Given the description of an element on the screen output the (x, y) to click on. 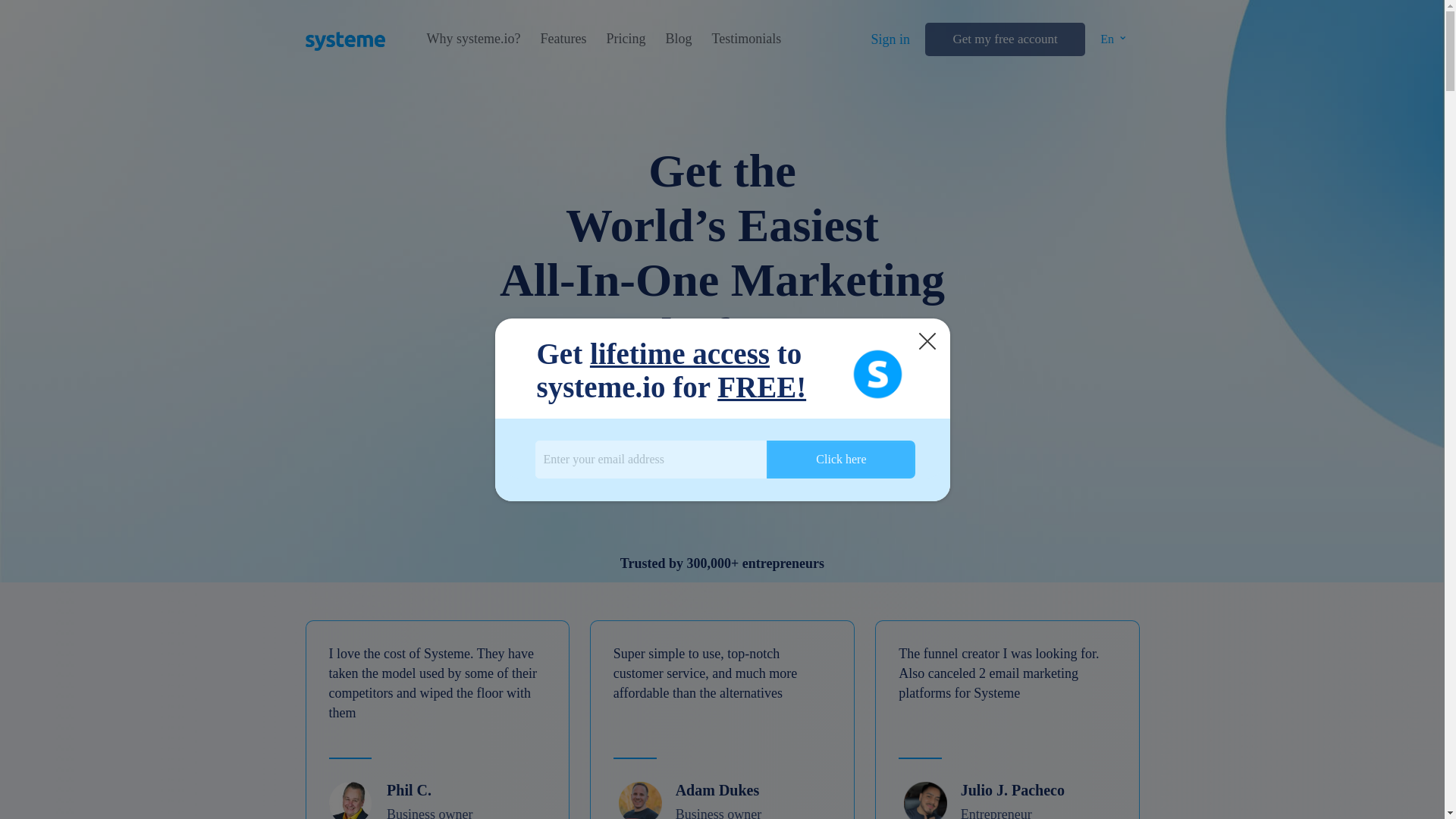
Testimonials (745, 38)
Sign in (890, 39)
Pricing (625, 38)
Why systeme.io? (472, 38)
Features (563, 38)
Get my free account (1004, 39)
Blog (678, 38)
